Given the description of an element on the screen output the (x, y) to click on. 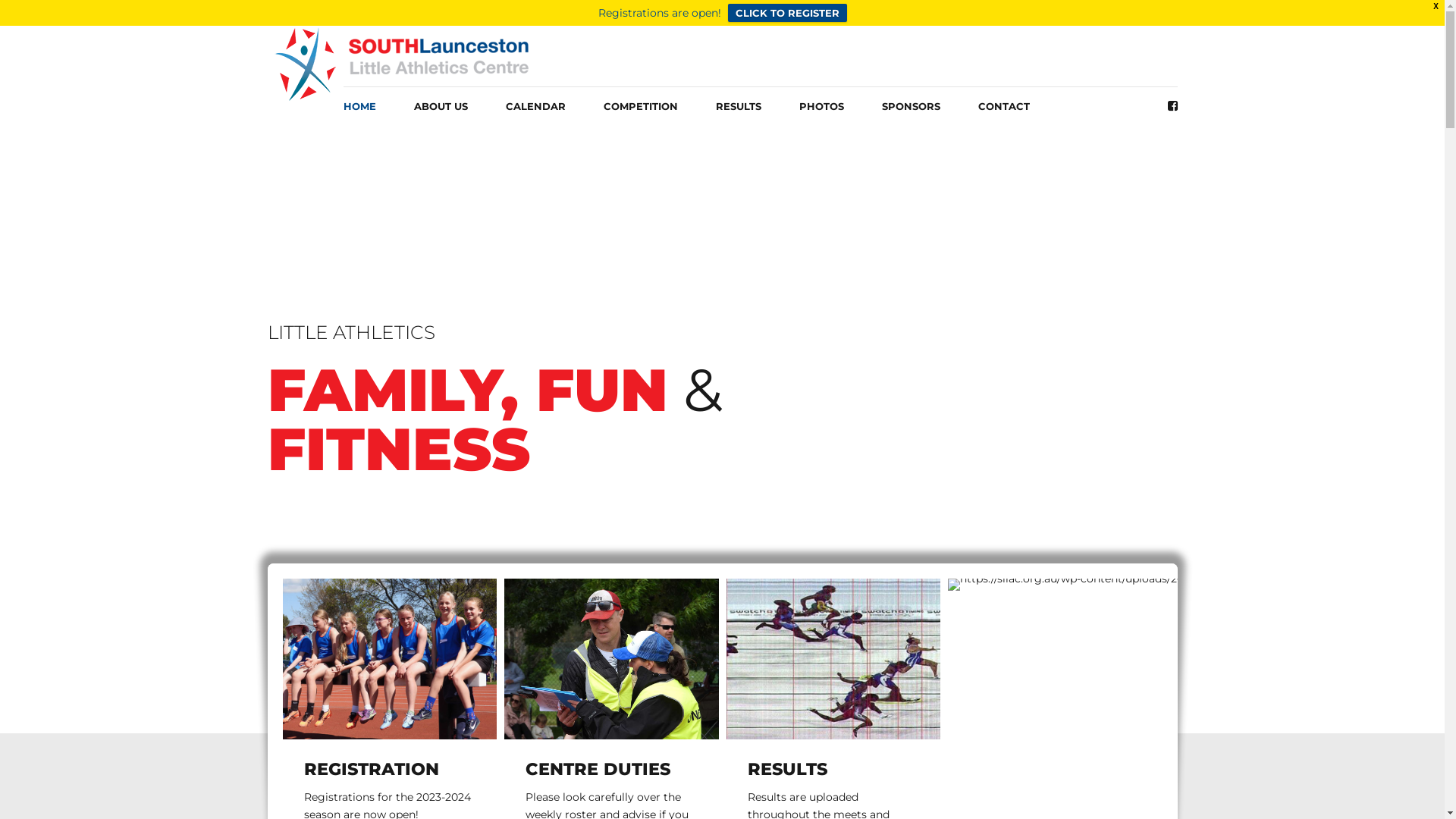
team-programs1 Element type: hover (389, 658)
COMPETITION Element type: text (640, 106)
PHOTOS Element type: text (821, 106)
CALENDAR Element type: text (534, 106)
crew Element type: hover (611, 658)
REGISTRATION Element type: text (370, 768)
RESULTS Element type: text (738, 106)
CONTACT Element type: text (1003, 106)
ABOUT US Element type: text (440, 106)
CLICK TO REGISTER Element type: text (787, 12)
SPONSORS Element type: text (910, 106)
HOME Element type: text (358, 106)
